Given the description of an element on the screen output the (x, y) to click on. 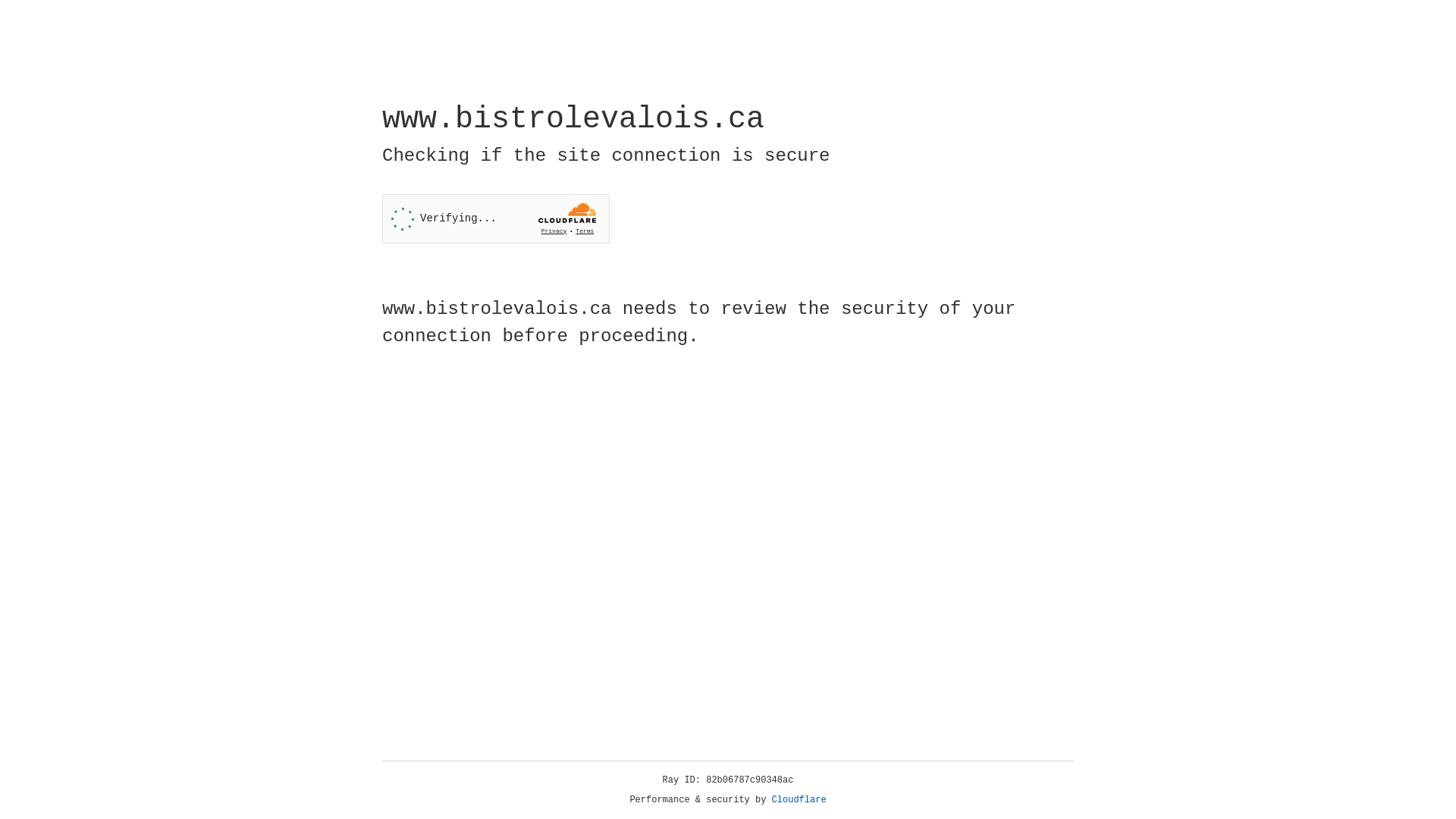
Widget containing a Cloudflare security challenge Element type: hover (495, 218)
Cloudflare Element type: text (798, 799)
